Given the description of an element on the screen output the (x, y) to click on. 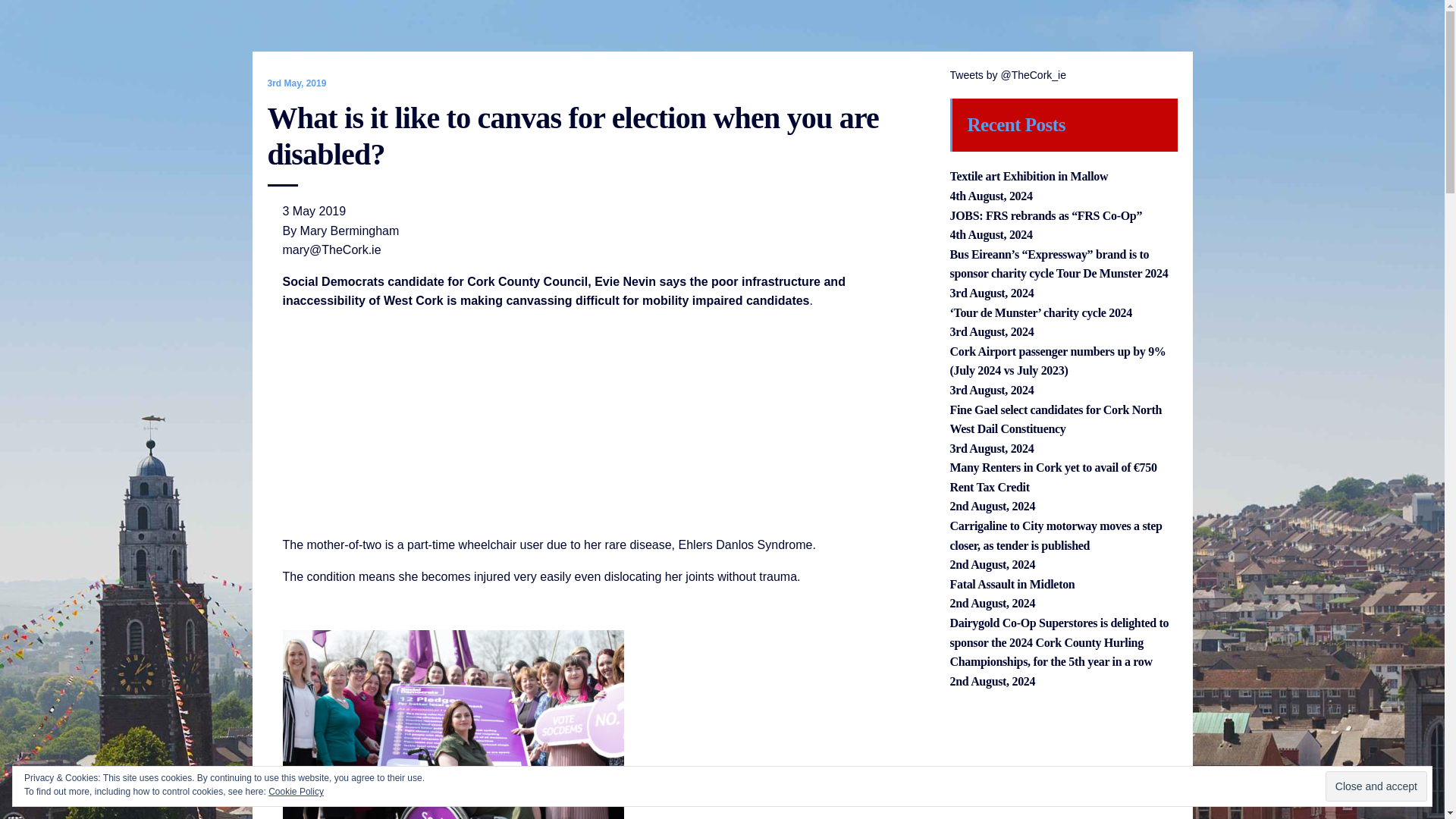
Advertisement (1062, 762)
Close and accept (1375, 786)
